Given the description of an element on the screen output the (x, y) to click on. 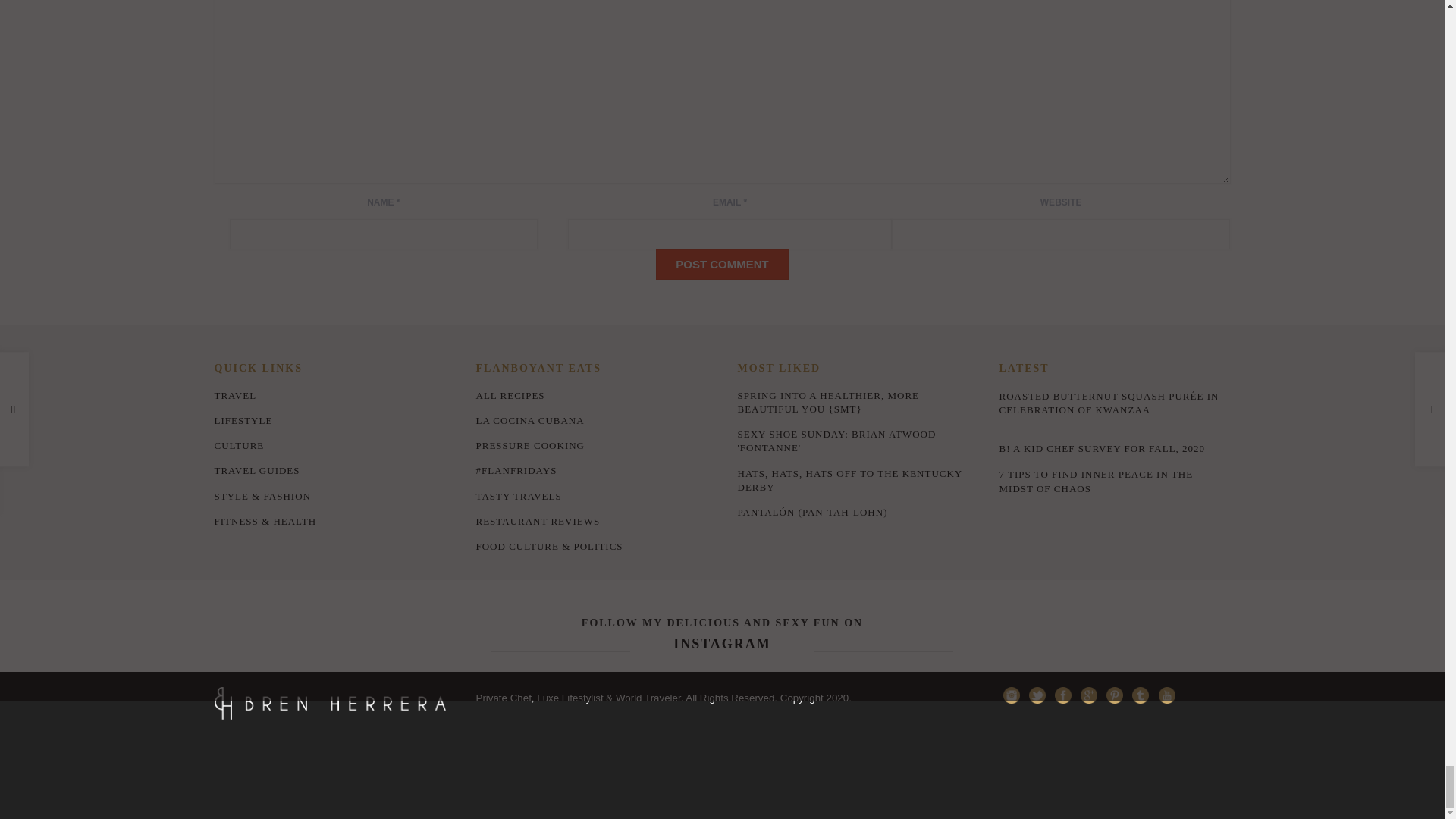
Post Comment (722, 264)
